Given the description of an element on the screen output the (x, y) to click on. 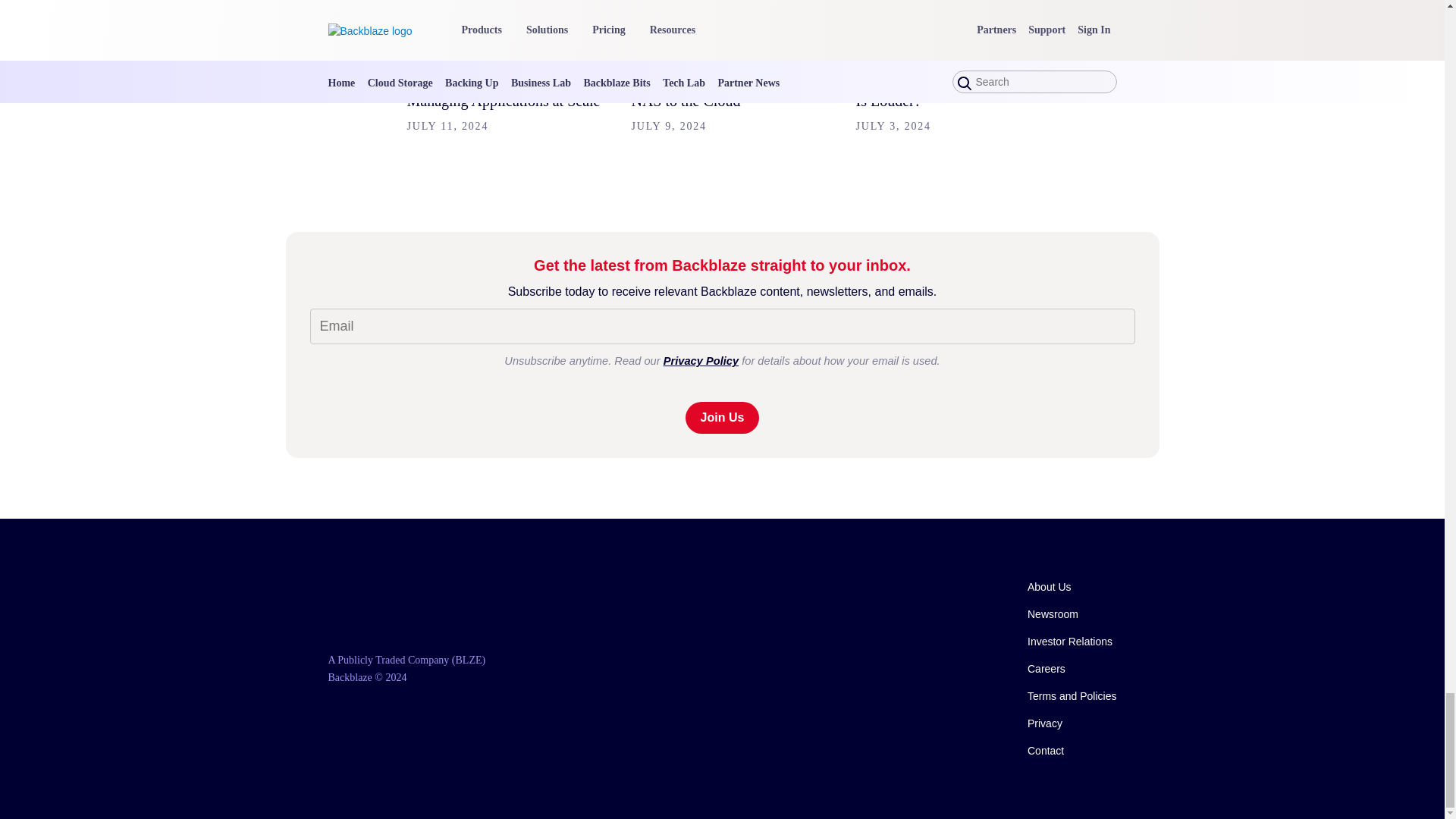
Join Us (722, 418)
